Given the description of an element on the screen output the (x, y) to click on. 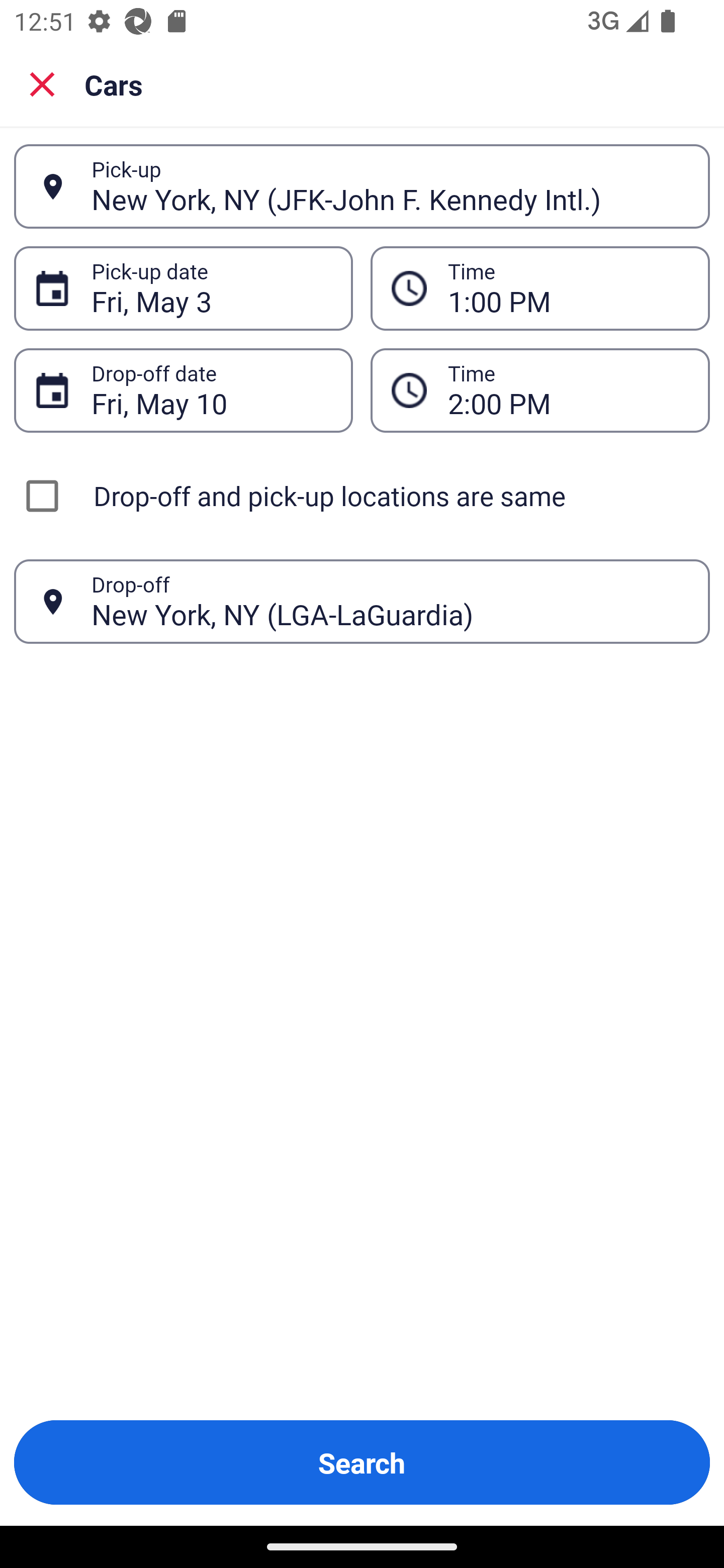
Close search screen (42, 84)
New York, NY (JFK-John F. Kennedy Intl.) (389, 186)
Fri, May 3 (211, 288)
1:00 PM (568, 288)
Fri, May 10 (211, 390)
2:00 PM (568, 390)
Drop-off and pick-up locations are same (361, 495)
New York, NY (LGA-LaGuardia) (389, 601)
Search Button Search (361, 1462)
